Given the description of an element on the screen output the (x, y) to click on. 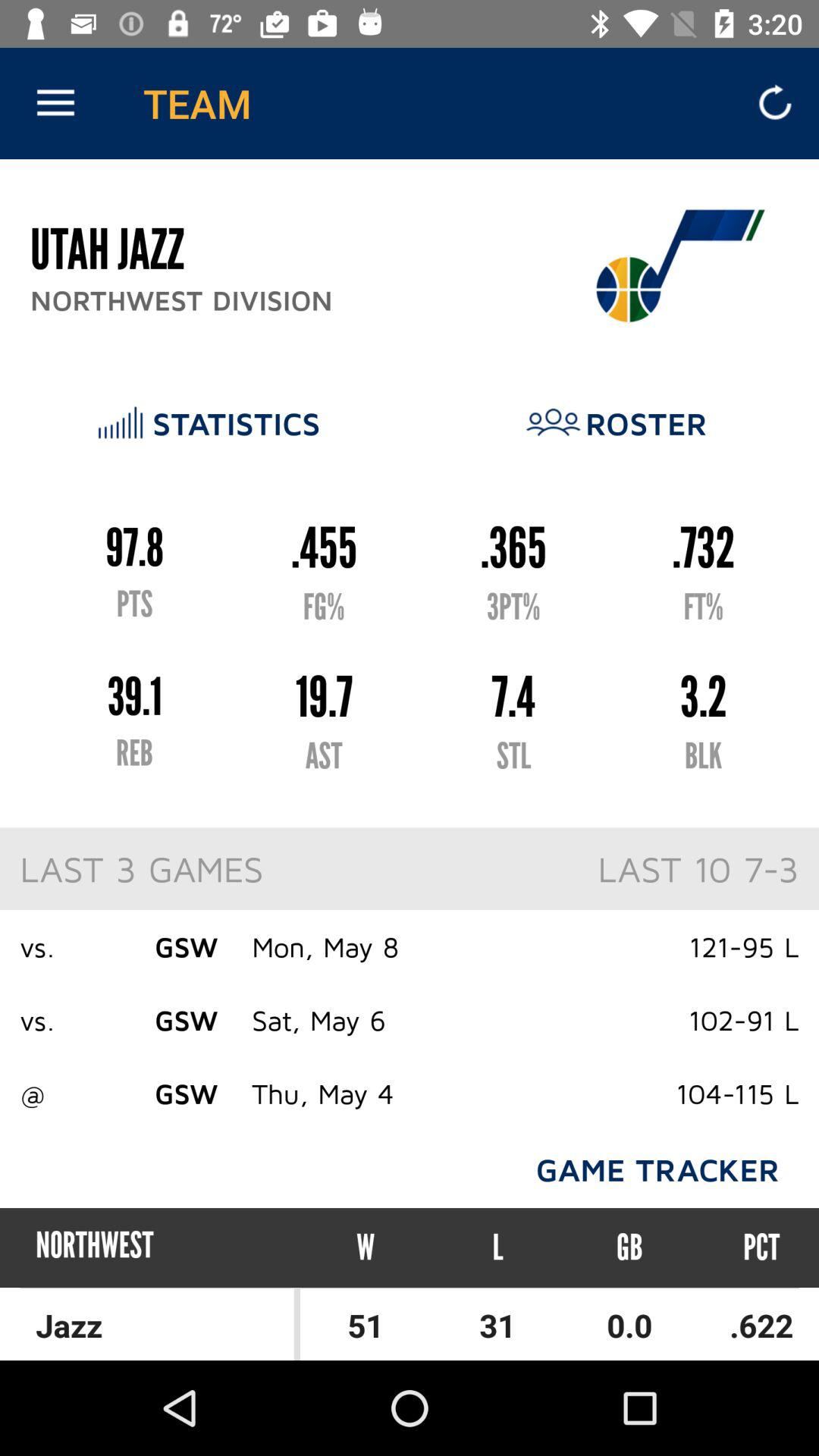
choose the icon next to team item (55, 103)
